Given the description of an element on the screen output the (x, y) to click on. 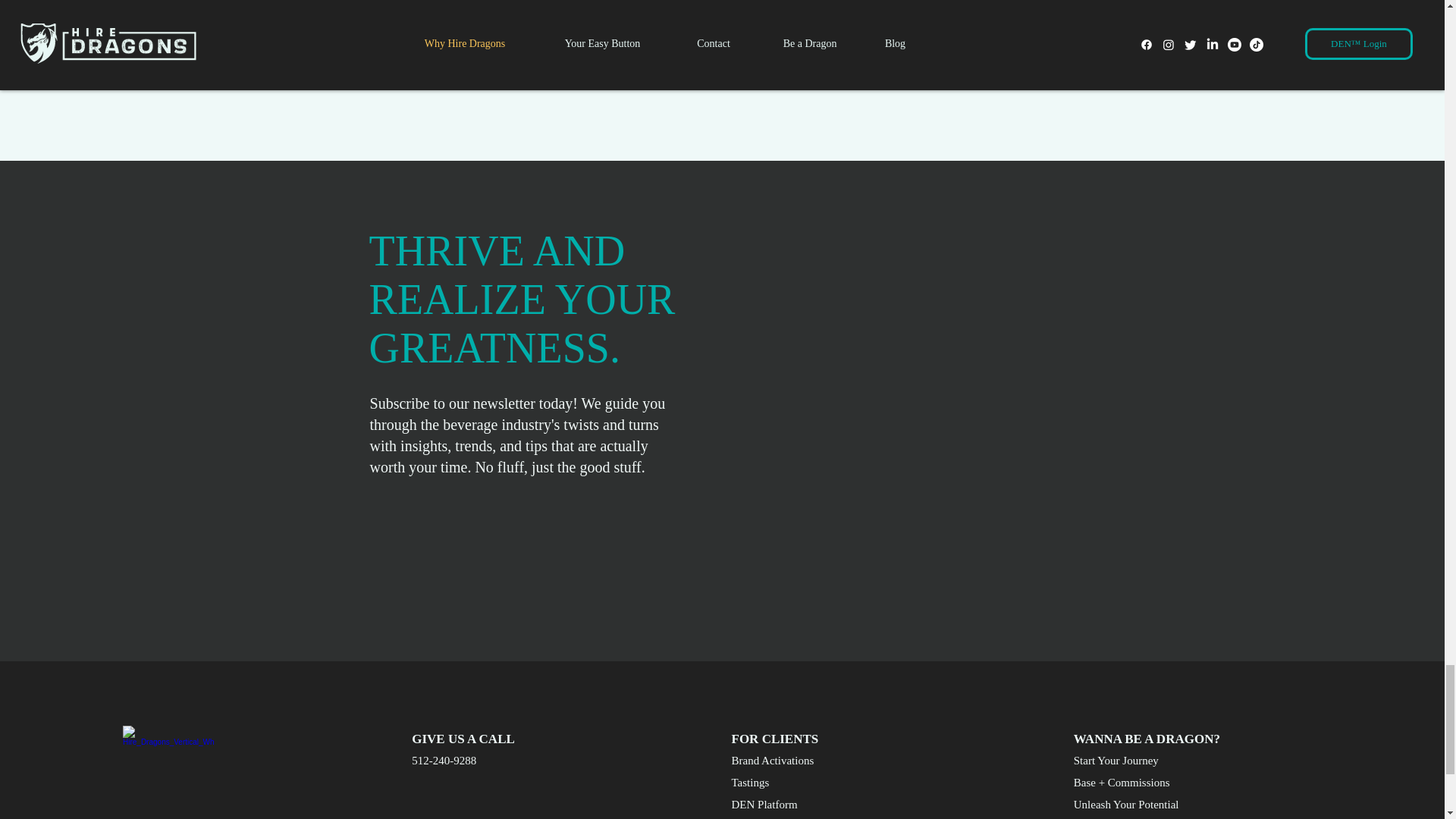
Brand Activations (784, 760)
Unleash Your Potential (1127, 804)
512-240-9288 (465, 760)
Start Your Journey (1127, 760)
Tastings (784, 782)
